Given the description of an element on the screen output the (x, y) to click on. 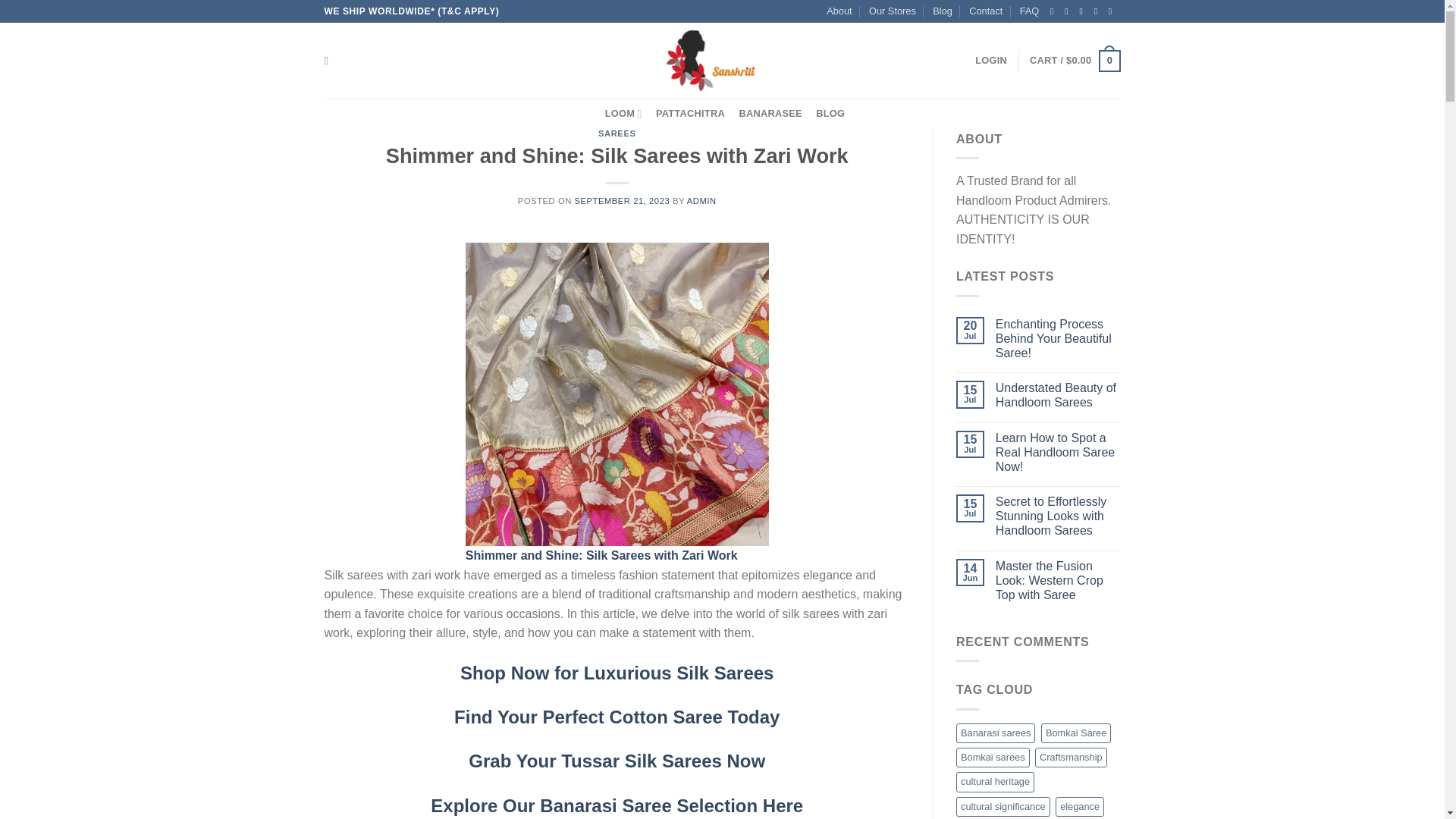
Contact (986, 11)
Our Stores (892, 11)
Cart (1074, 61)
LOGIN (991, 60)
About (839, 11)
